Given the description of an element on the screen output the (x, y) to click on. 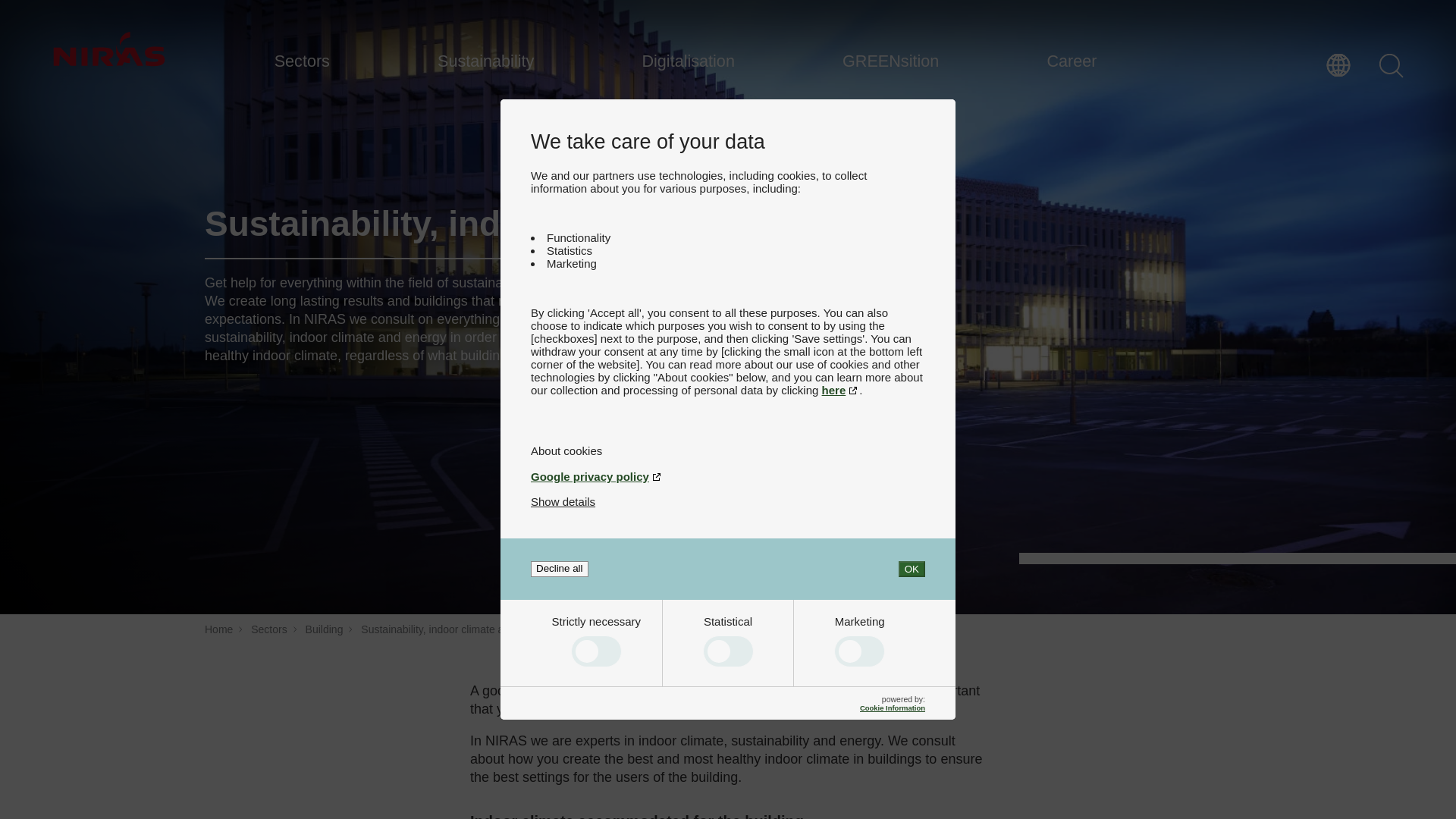
here (841, 390)
Cookie Information (892, 707)
Google privacy policy (727, 476)
Decline all (559, 569)
OK (911, 569)
Show details (563, 501)
About cookies (727, 450)
